Given the description of an element on the screen output the (x, y) to click on. 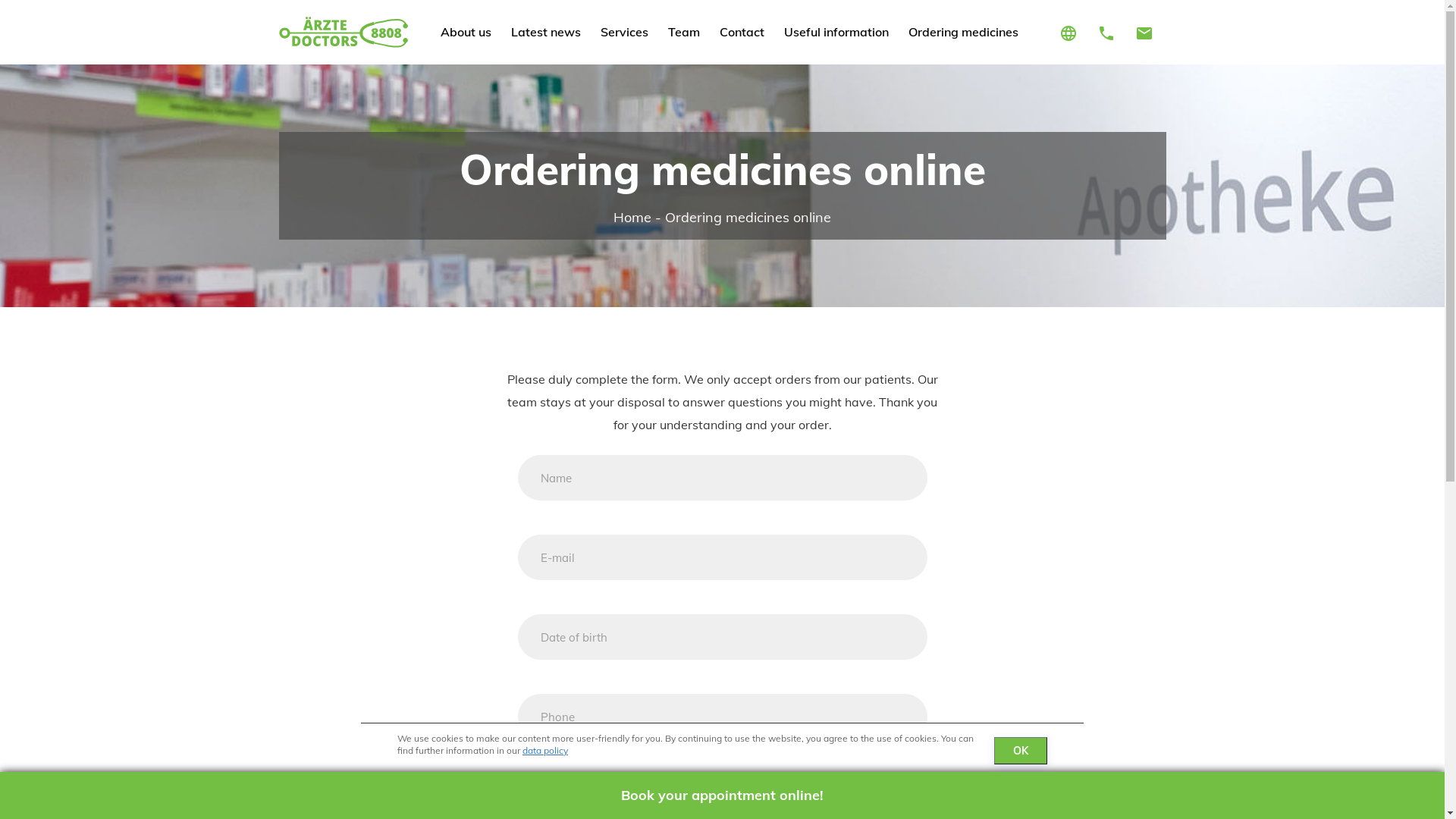
Services Element type: text (624, 31)
Contact Element type: text (741, 31)
Team Element type: text (683, 31)
About us Element type: text (465, 31)
Book your appointment online! Element type: text (722, 795)
data policy Element type: text (544, 750)
Home Element type: text (632, 216)
Latest news Element type: text (545, 31)
OK Element type: text (1020, 750)
Ordering medicines Element type: text (963, 31)
Useful information Element type: text (836, 31)
